Given the description of an element on the screen output the (x, y) to click on. 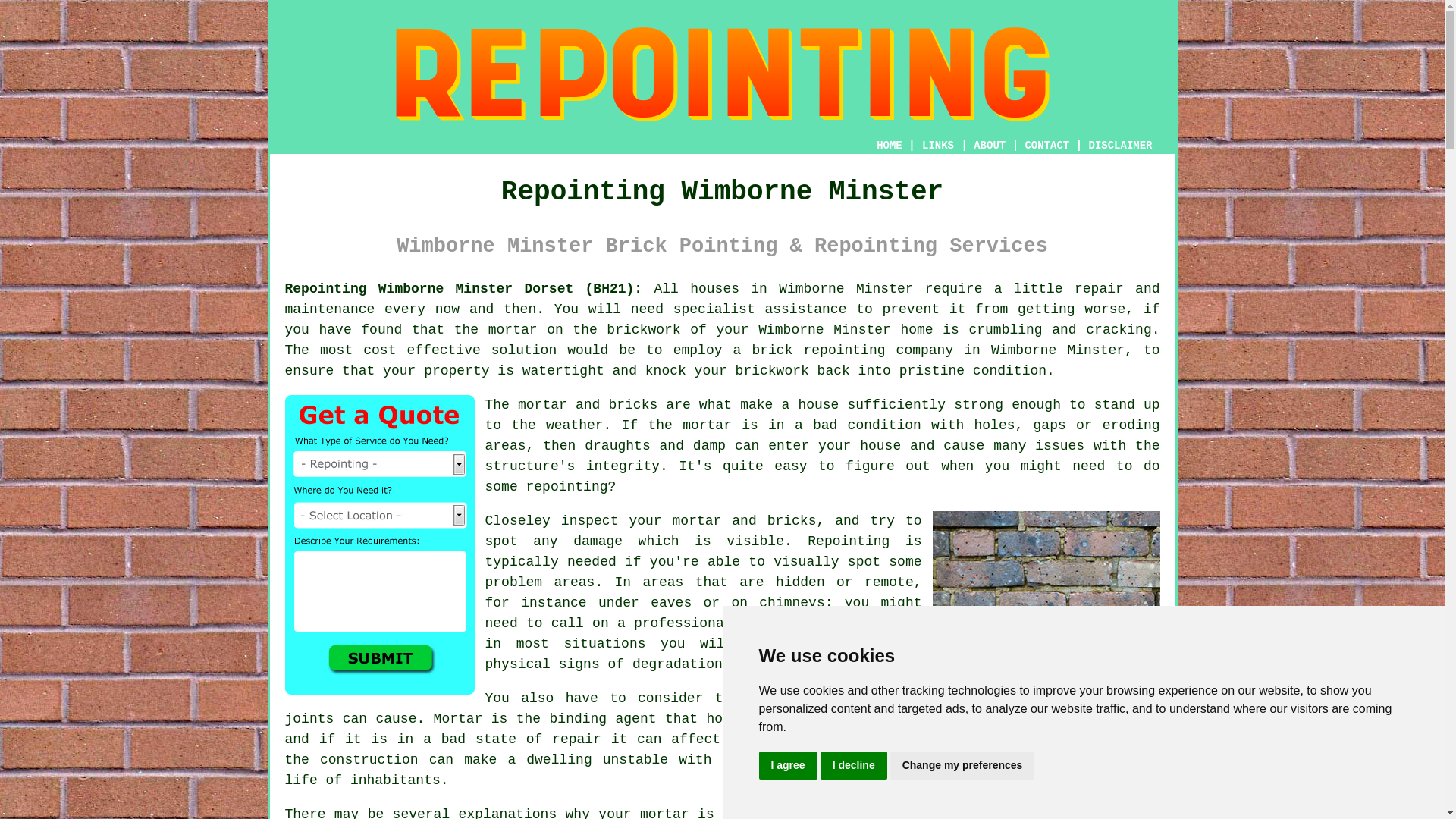
repointing (844, 350)
mortar (707, 425)
HOME (889, 145)
Repointing Wimborne Minster (722, 74)
I decline (853, 765)
Change my preferences (962, 765)
I agree (787, 765)
LINKS (938, 145)
